Given the description of an element on the screen output the (x, y) to click on. 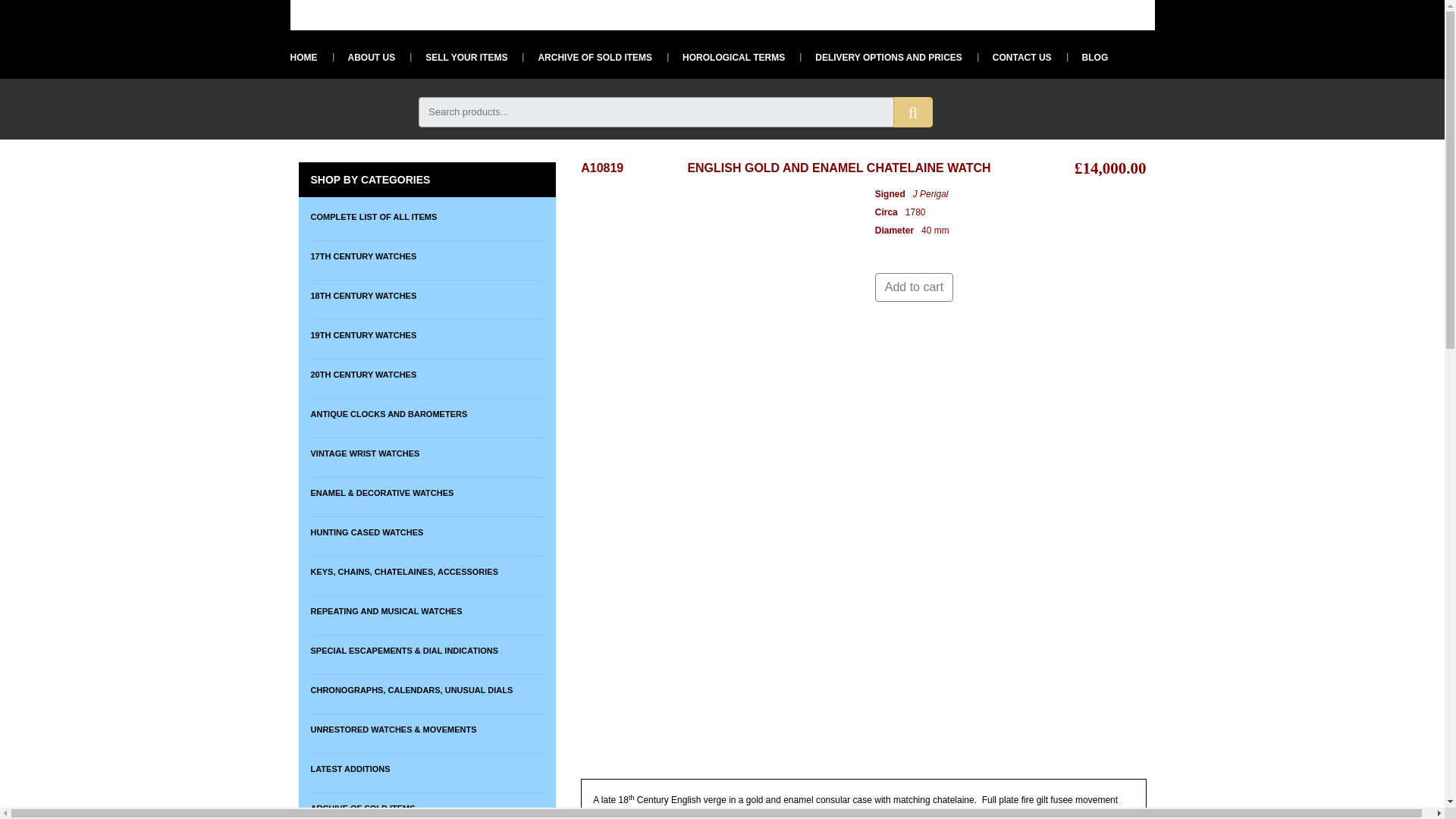
CONTACT US (1013, 57)
ABOUT US (362, 57)
17TH CENTURY WATCHES (427, 255)
BLOG (1087, 57)
20TH CENTURY WATCHES (427, 373)
Add to cart (914, 287)
HOROLOGICAL TERMS (725, 57)
ANTIQUE CLOCKS AND BAROMETERS (427, 413)
18TH CENTURY WATCHES (427, 295)
DELIVERY OPTIONS AND PRICES (880, 57)
